Given the description of an element on the screen output the (x, y) to click on. 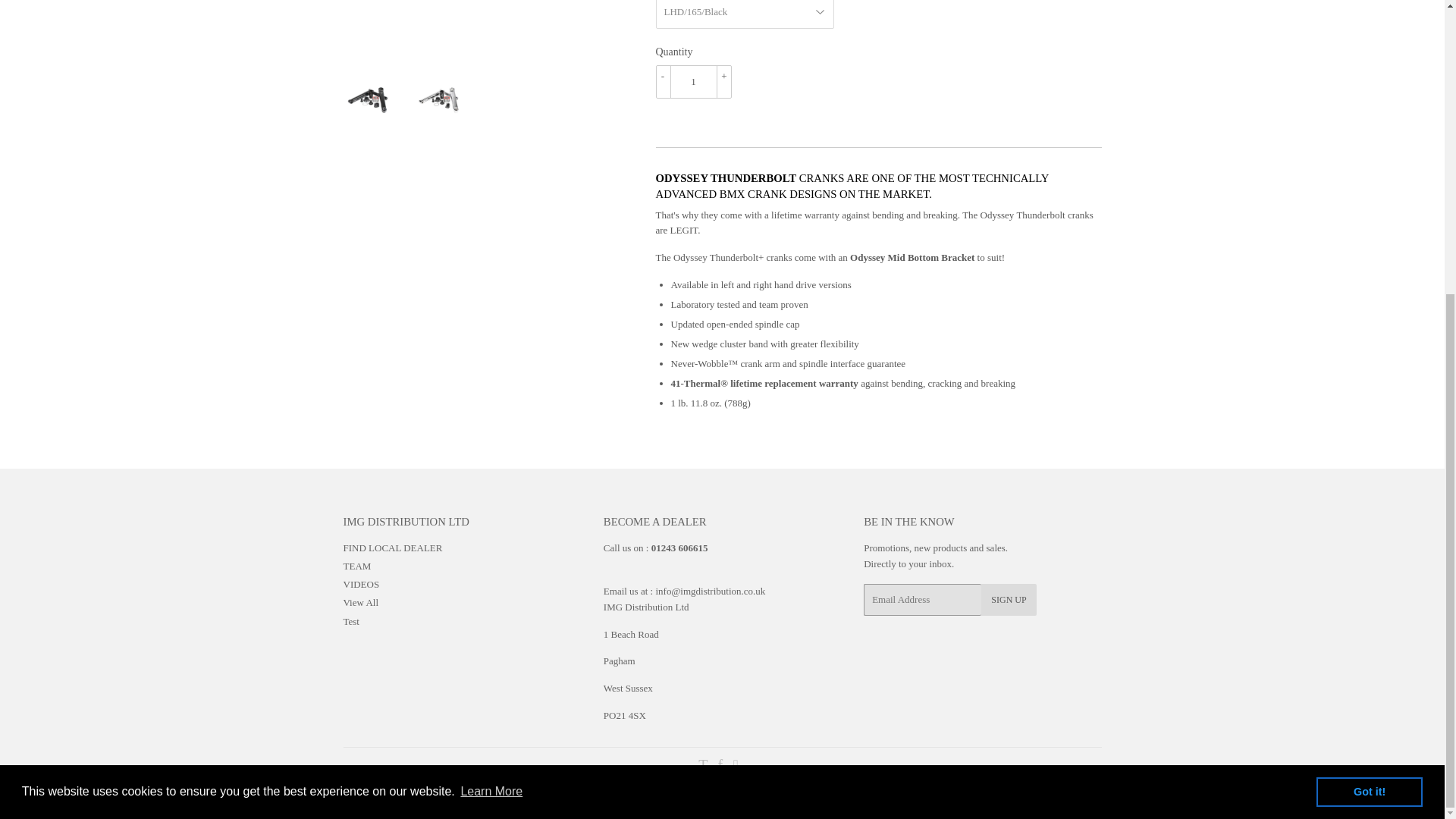
1 (692, 81)
Got it! (1369, 340)
Contact Us (710, 591)
Learn More (491, 341)
